Given the description of an element on the screen output the (x, y) to click on. 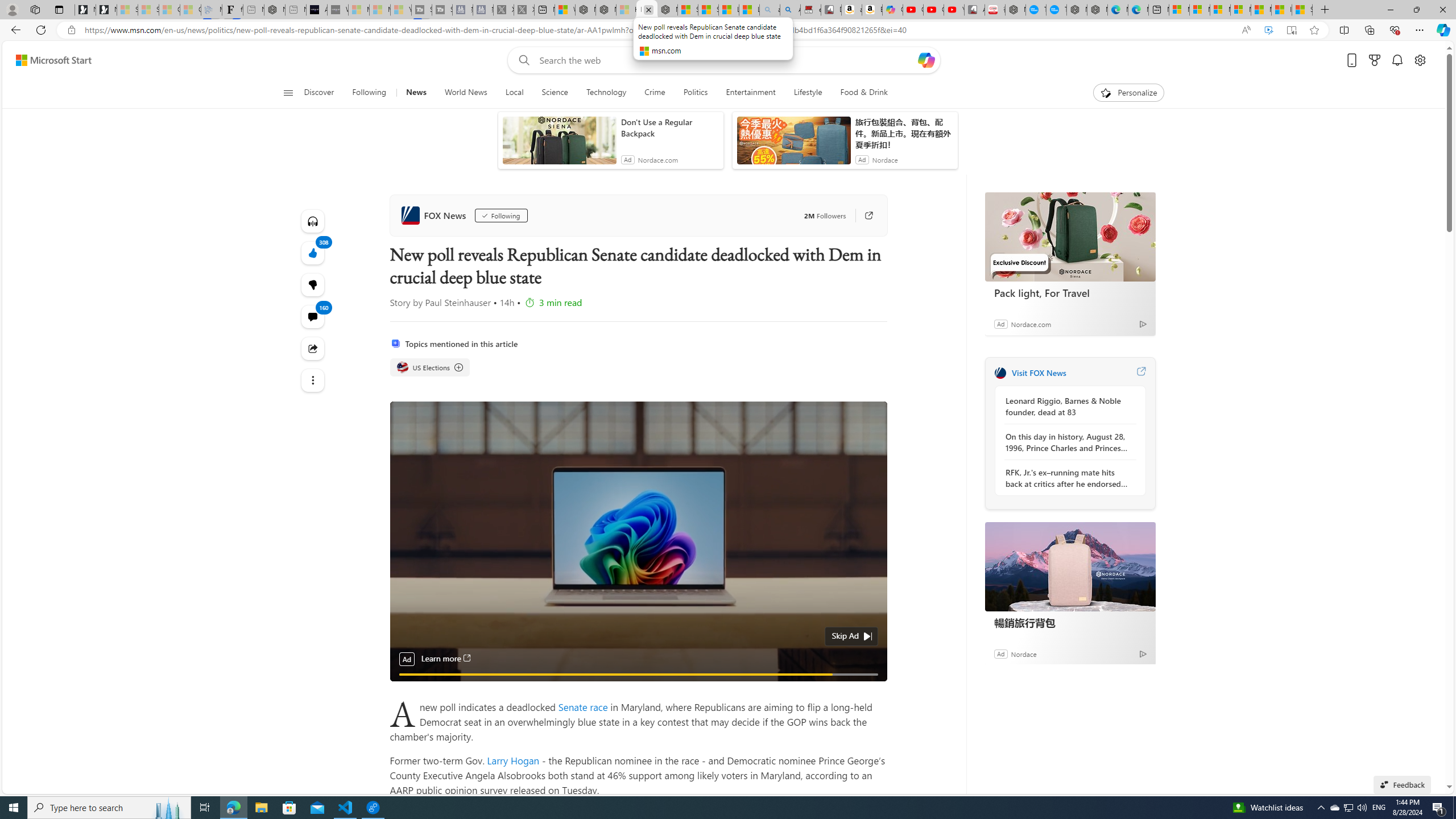
Pack light, For Travel (1070, 236)
video progress bar (637, 674)
Open settings (1420, 60)
Skip Ad (845, 635)
US Elections US Elections US Elections (430, 367)
Listen to this article (312, 221)
Science (554, 92)
I Gained 20 Pounds of Muscle in 30 Days! | Watch (1281, 9)
Visit FOX News website (1140, 372)
